Given the description of an element on the screen output the (x, y) to click on. 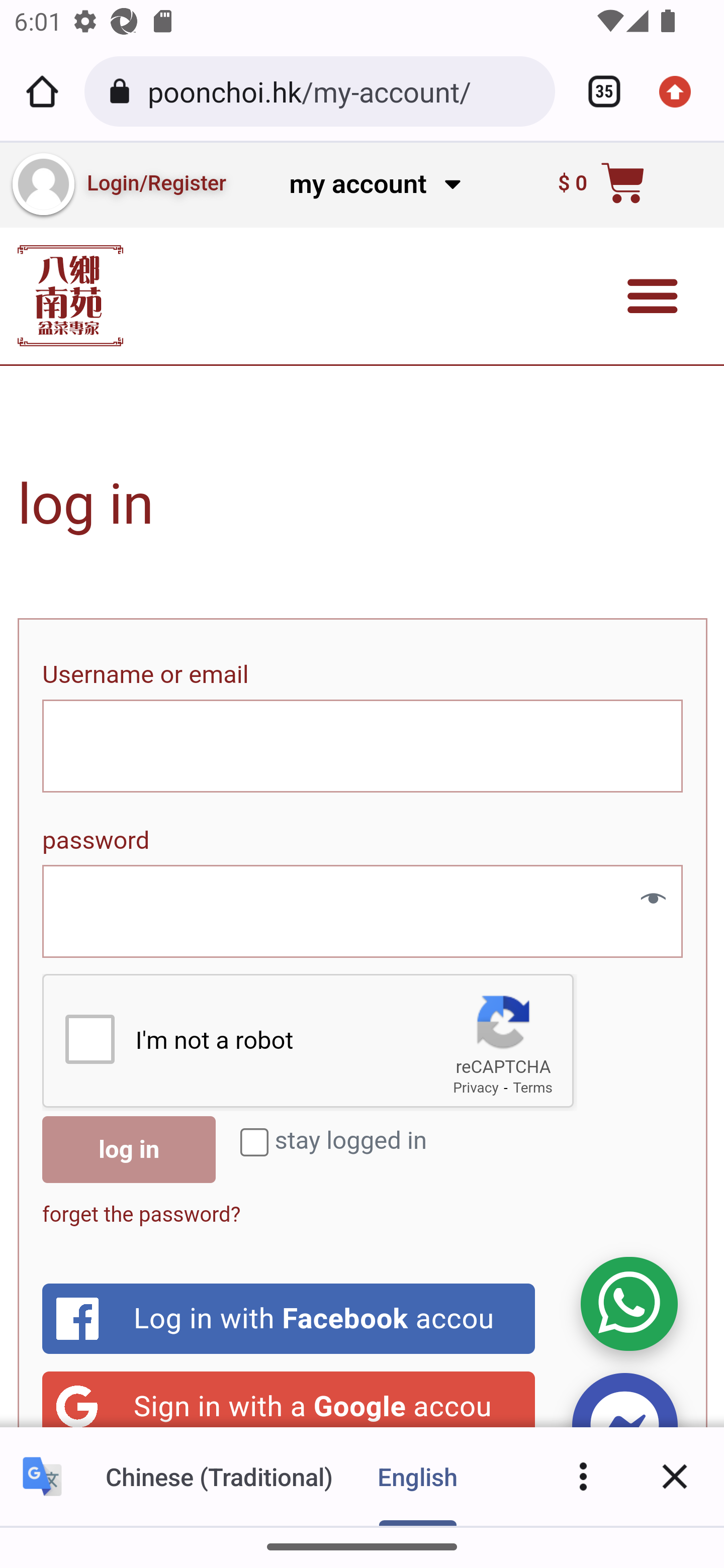
Home (42, 91)
Connection is secure (122, 91)
Switch or close tabs (597, 91)
Update available. More options (681, 91)
poonchoi.hk/my-account/ (343, 90)
$ 0  shopping basket $  0  (600, 184)
my account  my account  (374, 183)
my-account (43, 184)
Login/Register (156, 183)
www.poonchoi (70, 296)
Menu switch (652, 295)
 (645, 900)
I'm not a robot (89, 1038)
Privacy (475, 1087)
Terms (533, 1087)
log in (128, 1148)
保持登入 (254, 1142)
forget the password? (141, 1214)
Chinese (Traditional) (219, 1475)
More options (582, 1475)
Close (674, 1475)
